Given the description of an element on the screen output the (x, y) to click on. 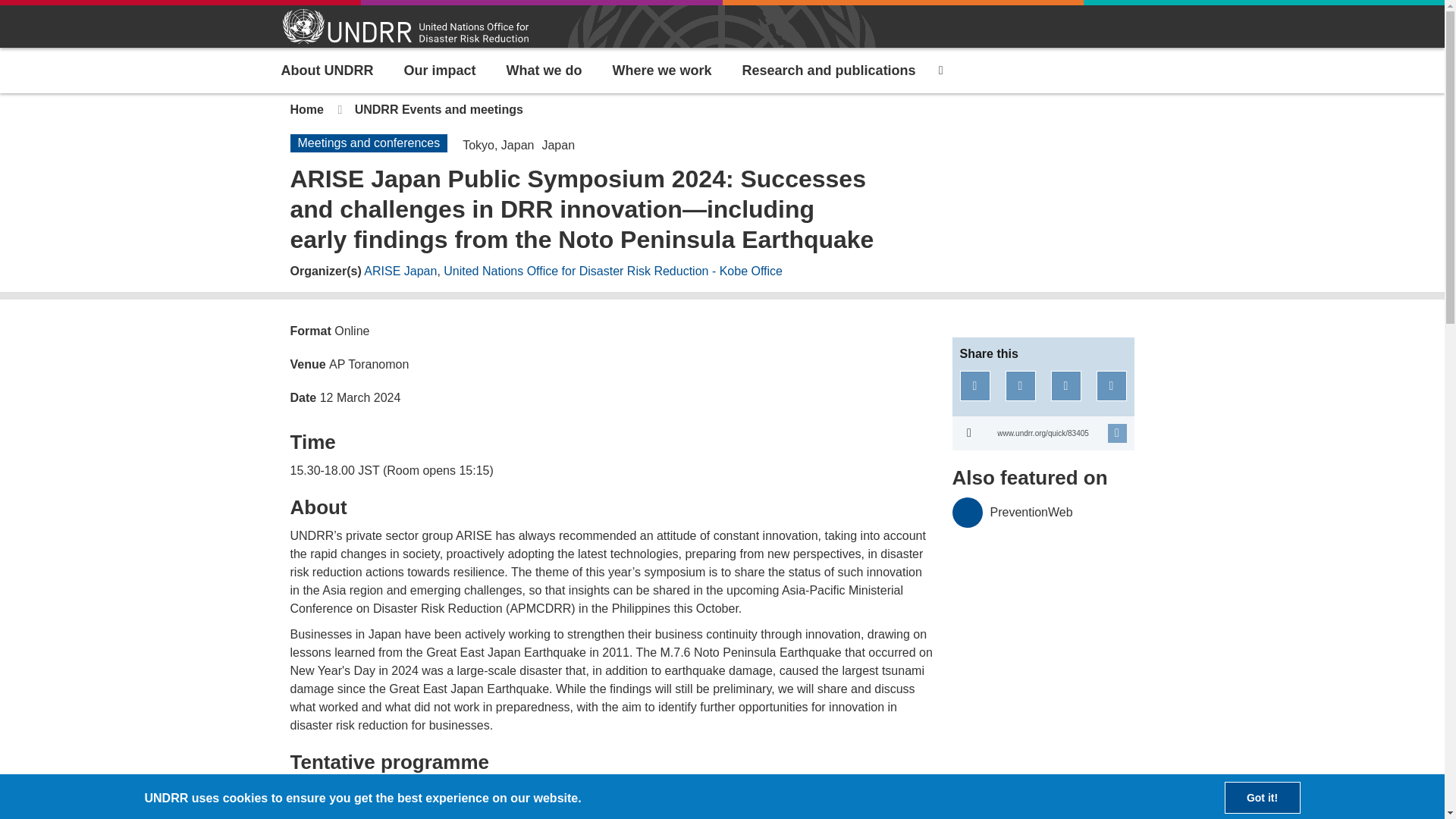
UNDRR Logo (404, 27)
Copy to Clipboard (1043, 433)
Share on Twitter (1020, 386)
Share via Email (1111, 386)
About UNDRR (326, 70)
Share on Facebook (974, 386)
Our impact (439, 70)
Share on LinkedIn (1066, 386)
